Given the description of an element on the screen output the (x, y) to click on. 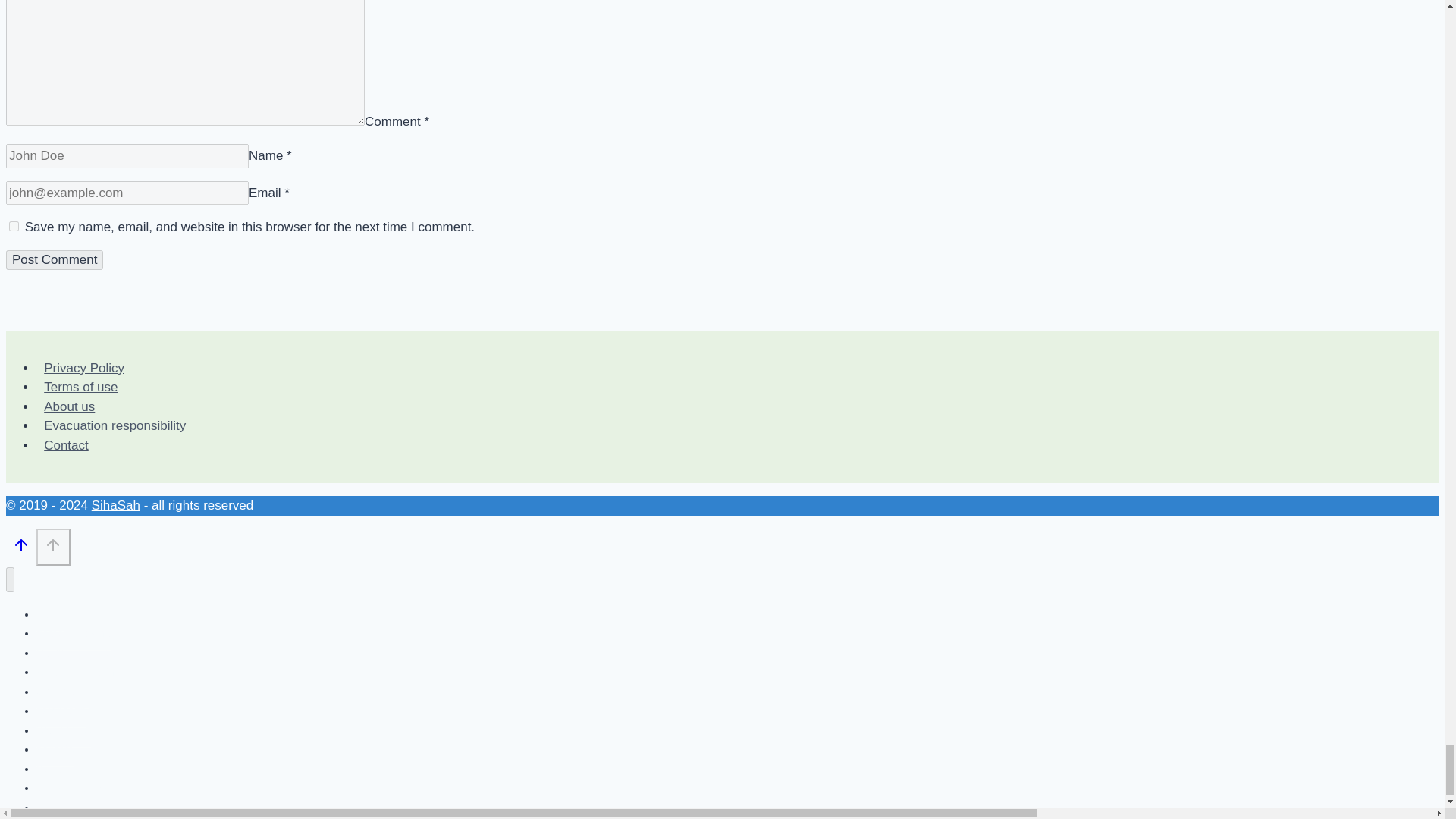
yes (13, 225)
Scroll to top (20, 548)
Scroll to top (52, 545)
Scroll to top (52, 546)
Post Comment (54, 260)
Scroll to top (20, 545)
